Given the description of an element on the screen output the (x, y) to click on. 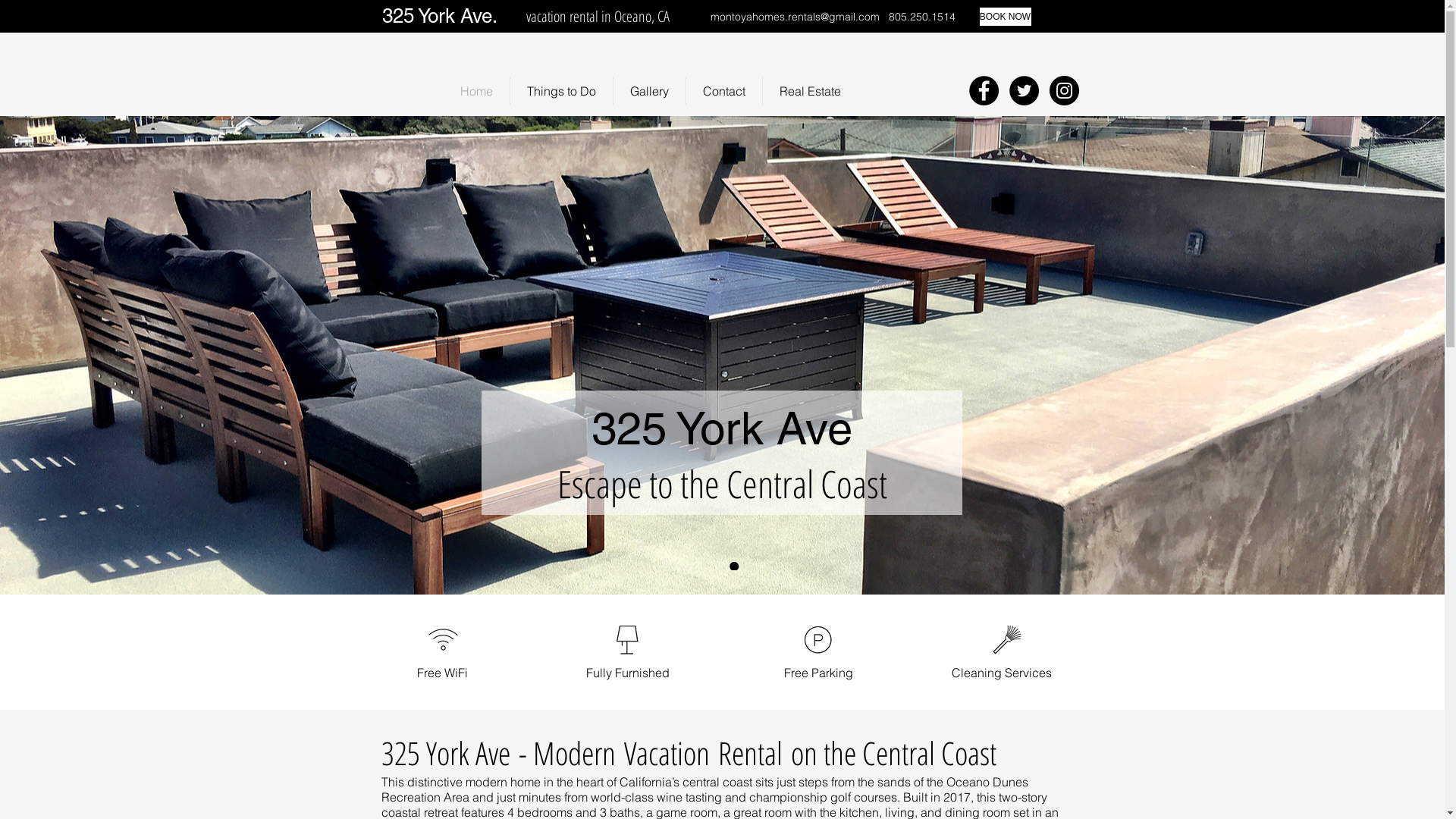
Real Estate Element type: text (809, 90)
BOOK NOW Element type: text (1005, 16)
Contact Element type: text (724, 90)
325 York Ave. Element type: text (439, 15)
Home Element type: text (476, 90)
montoyahomes.rentals@gmail.com Element type: text (793, 16)
Gallery Element type: text (649, 90)
